Given the description of an element on the screen output the (x, y) to click on. 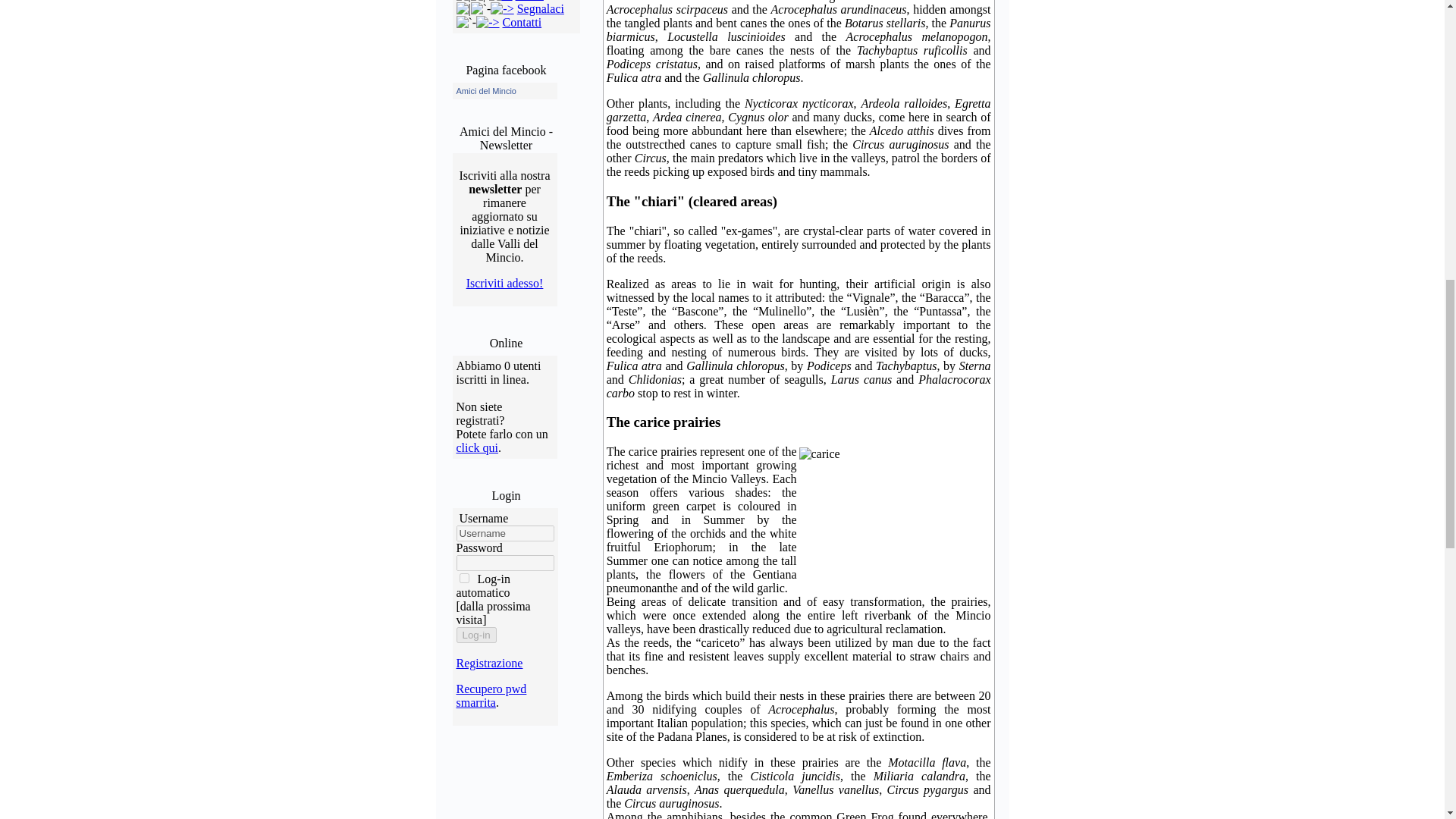
Username (505, 533)
Log-in (476, 634)
1 (464, 578)
